Given the description of an element on the screen output the (x, y) to click on. 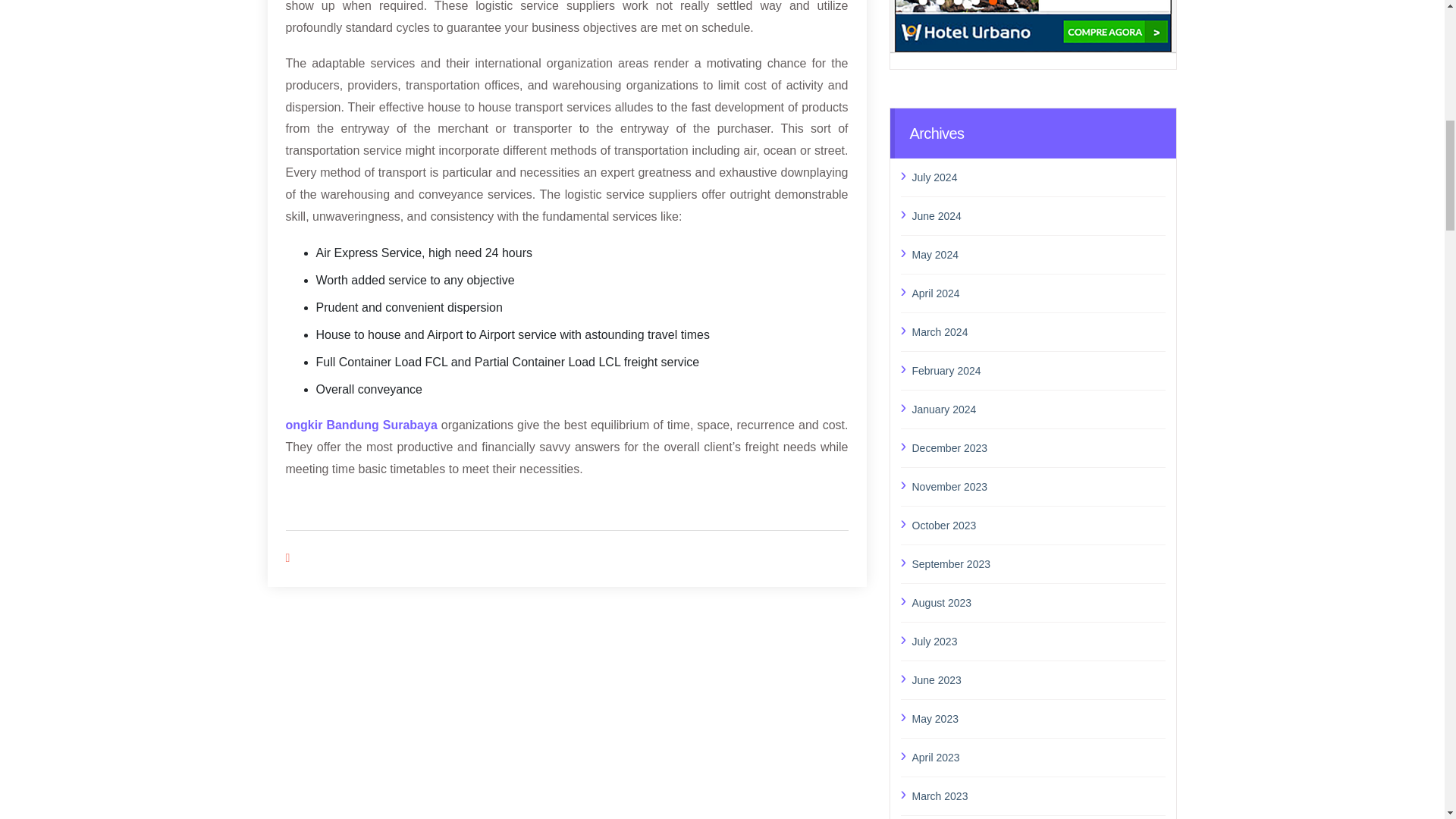
April 2024 (1038, 293)
March 2024 (1038, 332)
March 2023 (1038, 795)
July 2023 (1038, 641)
June 2024 (1038, 216)
April 2023 (1038, 757)
July 2024 (1038, 177)
January 2024 (1038, 409)
May 2024 (1038, 254)
November 2023 (1038, 486)
